Given the description of an element on the screen output the (x, y) to click on. 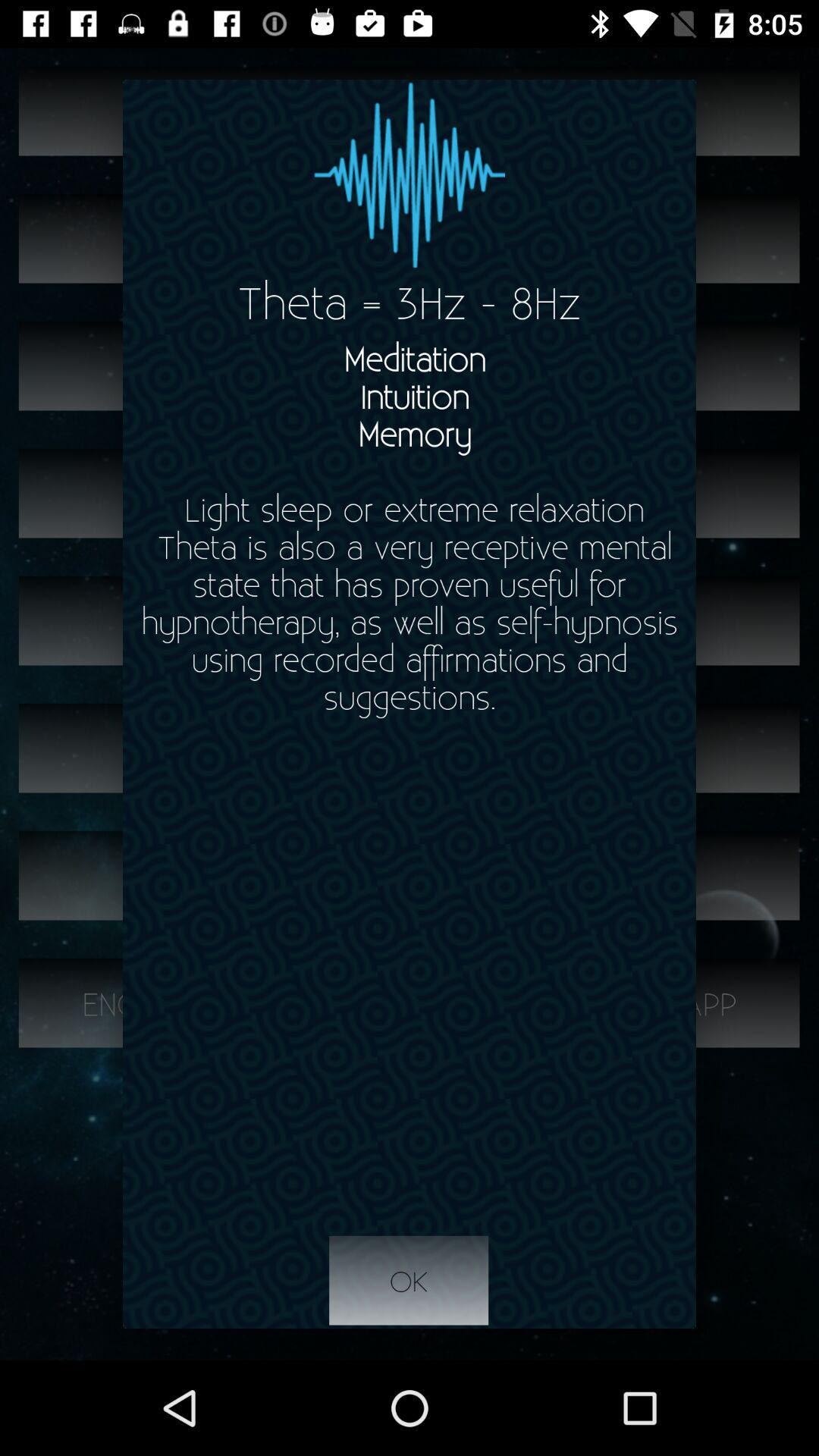
press item below meditation intuition memory app (408, 1280)
